Given the description of an element on the screen output the (x, y) to click on. 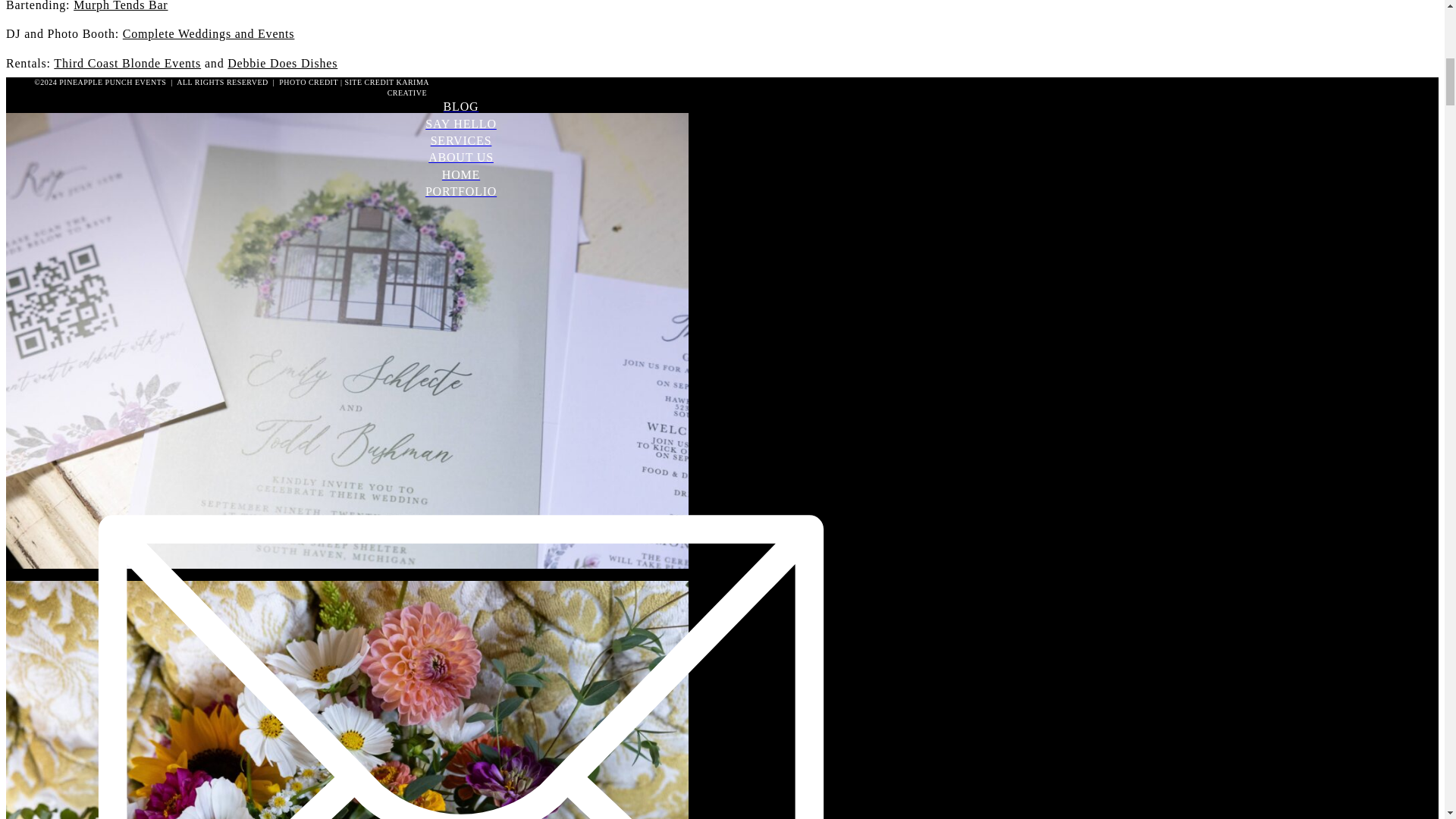
SAY HELLO (460, 124)
PHOTO CREDIT (308, 81)
KARIMA CREATIVE (408, 87)
Complete Weddings and Events (208, 33)
ABOUT US (460, 157)
Affordable Limousine (152, 91)
Debbie Does Dishes (282, 62)
Third Coast Blonde Events (126, 62)
PORTFOLIO (460, 191)
BLOG (460, 106)
HOME (460, 175)
Murph Tends Bar (120, 5)
SERVICES (460, 140)
